Given the description of an element on the screen output the (x, y) to click on. 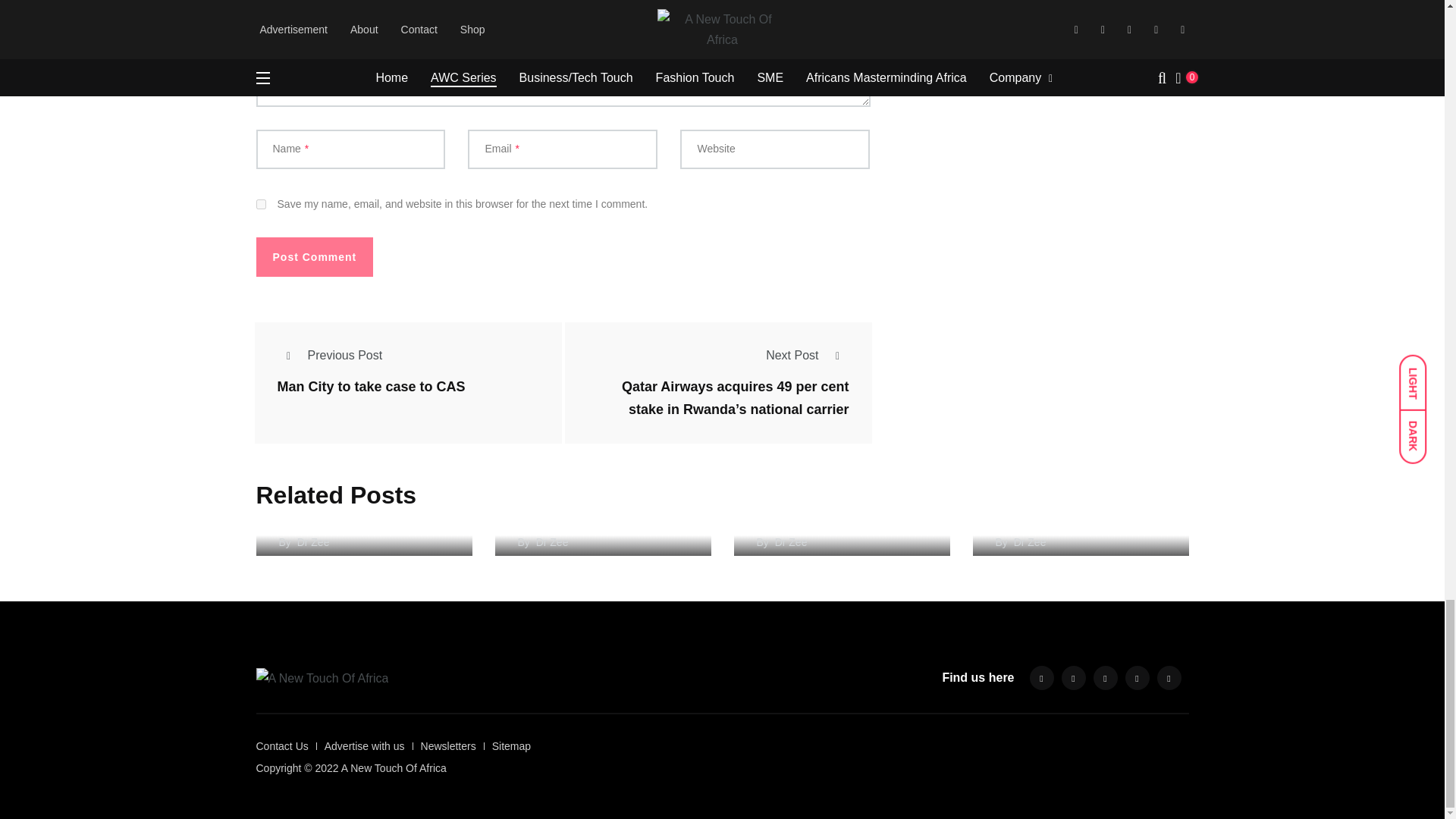
Post Comment (315, 256)
yes (261, 204)
